Given the description of an element on the screen output the (x, y) to click on. 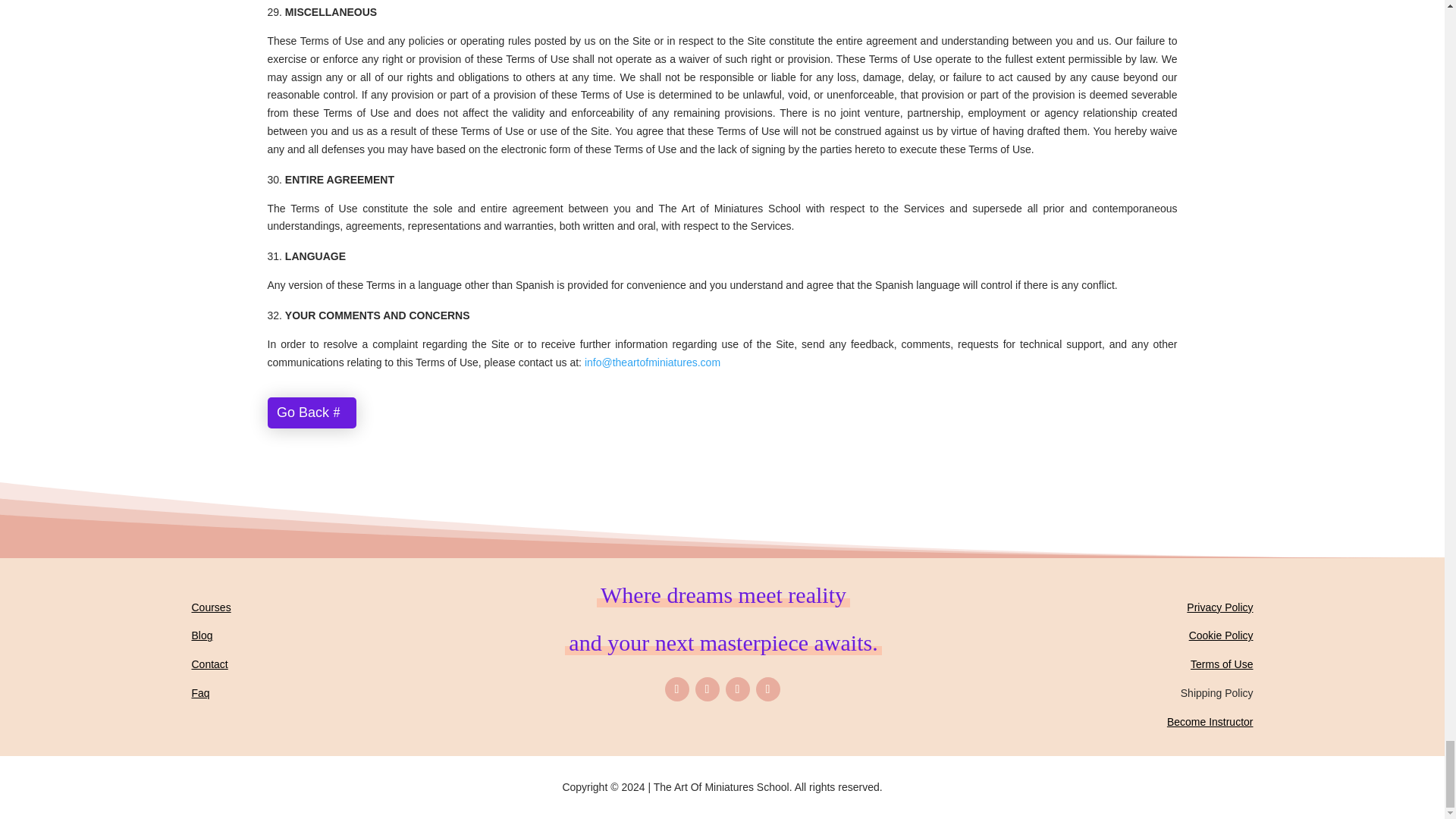
Blog (201, 635)
Terms of Use (1221, 664)
Go Back (311, 412)
Follow on X (706, 689)
Cookie Policy (1221, 635)
Become Instructor (1210, 721)
Follow on Facebook (675, 689)
Courses (210, 607)
Follow on Youtube (766, 689)
Privacy Policy (1219, 607)
